Given the description of an element on the screen output the (x, y) to click on. 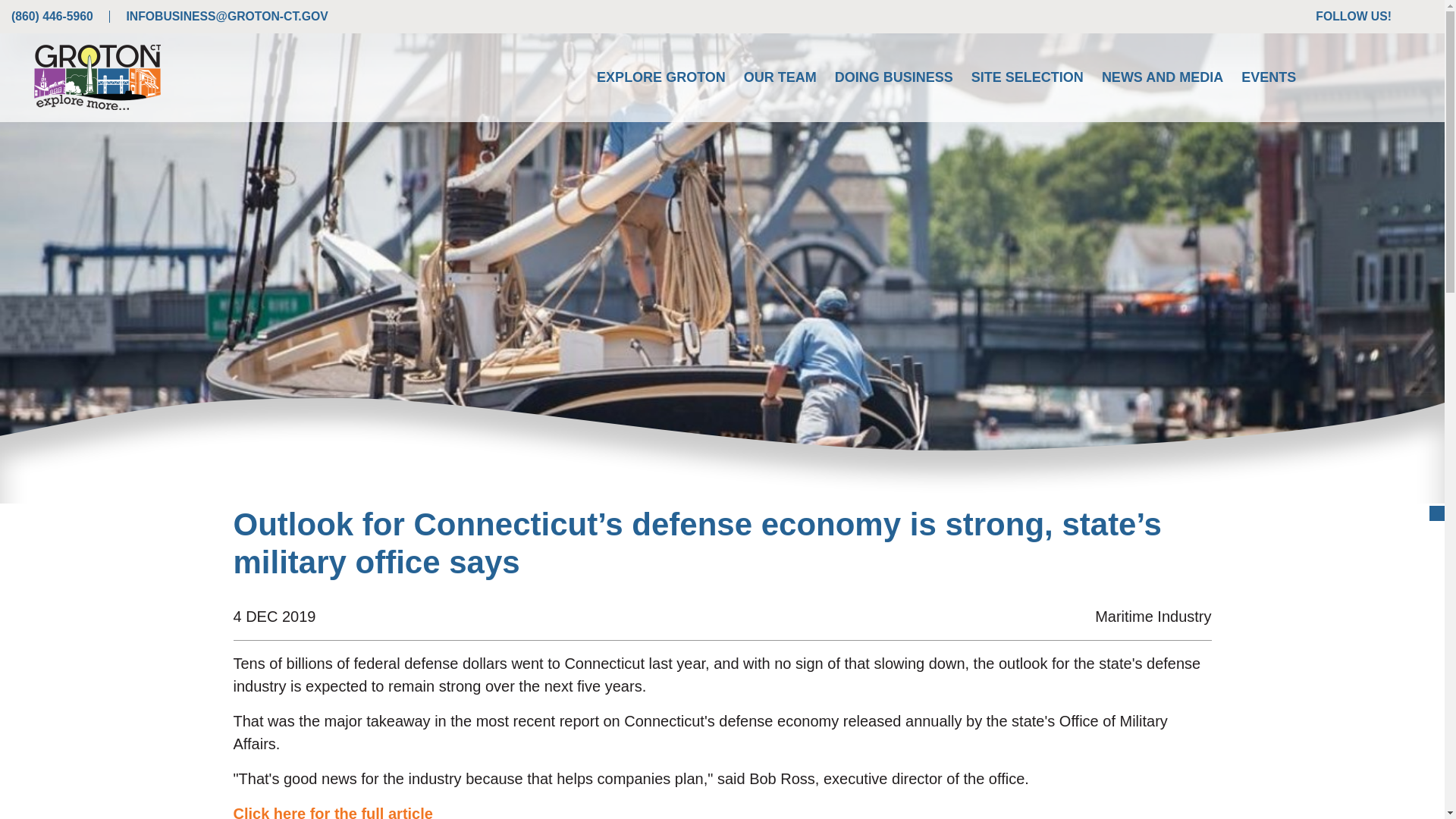
OUR TEAM (780, 77)
DOING BUSINESS (893, 77)
SITE SELECTION (1027, 77)
EXPLORE GROTON (661, 77)
